Given the description of an element on the screen output the (x, y) to click on. 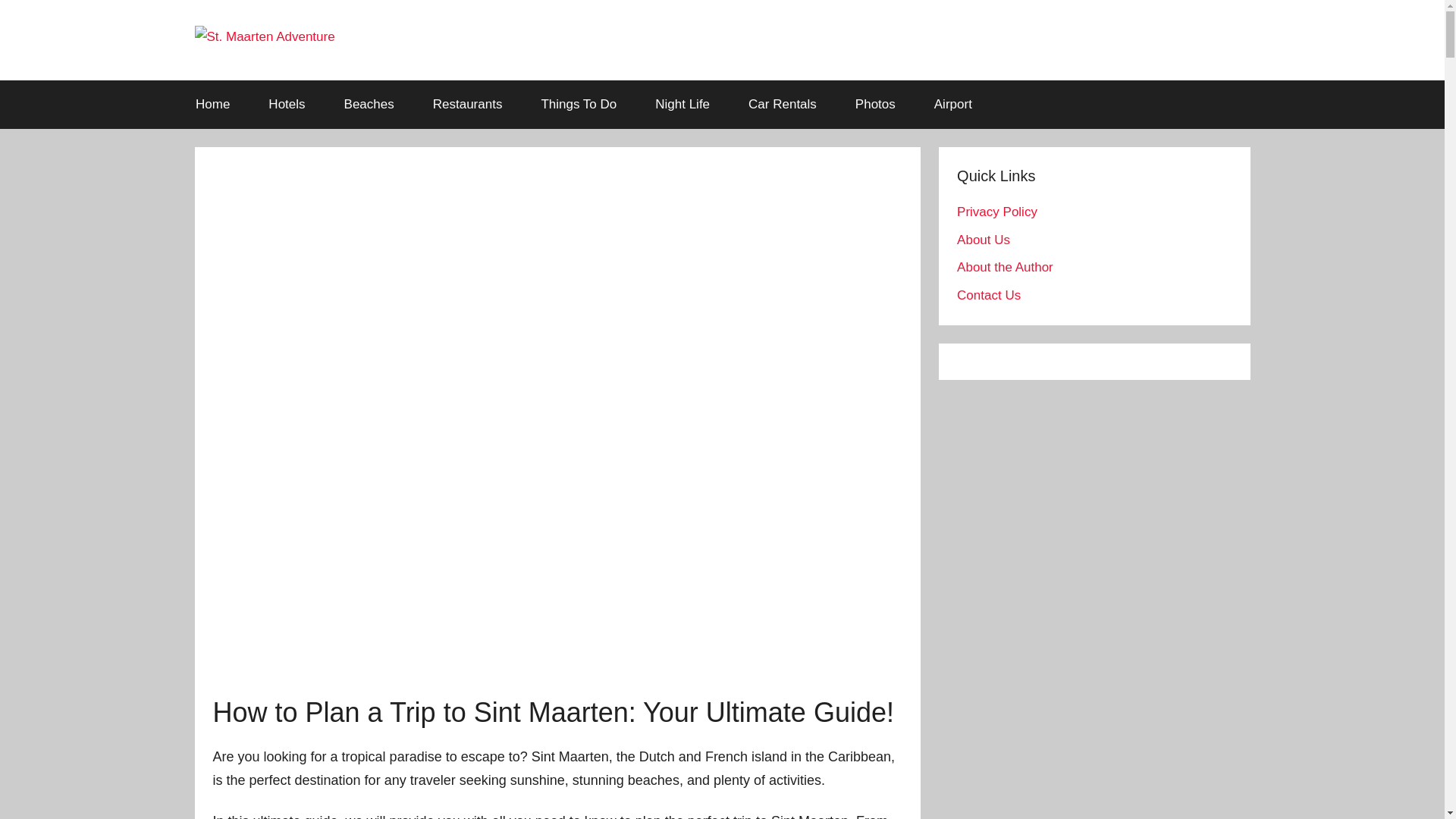
Car Rentals (782, 104)
Restaurants (467, 104)
Photos (874, 104)
Airport (952, 104)
Home (212, 104)
Beaches (368, 104)
Hotels (286, 104)
Things To Do (578, 104)
Night Life (682, 104)
